Given the description of an element on the screen output the (x, y) to click on. 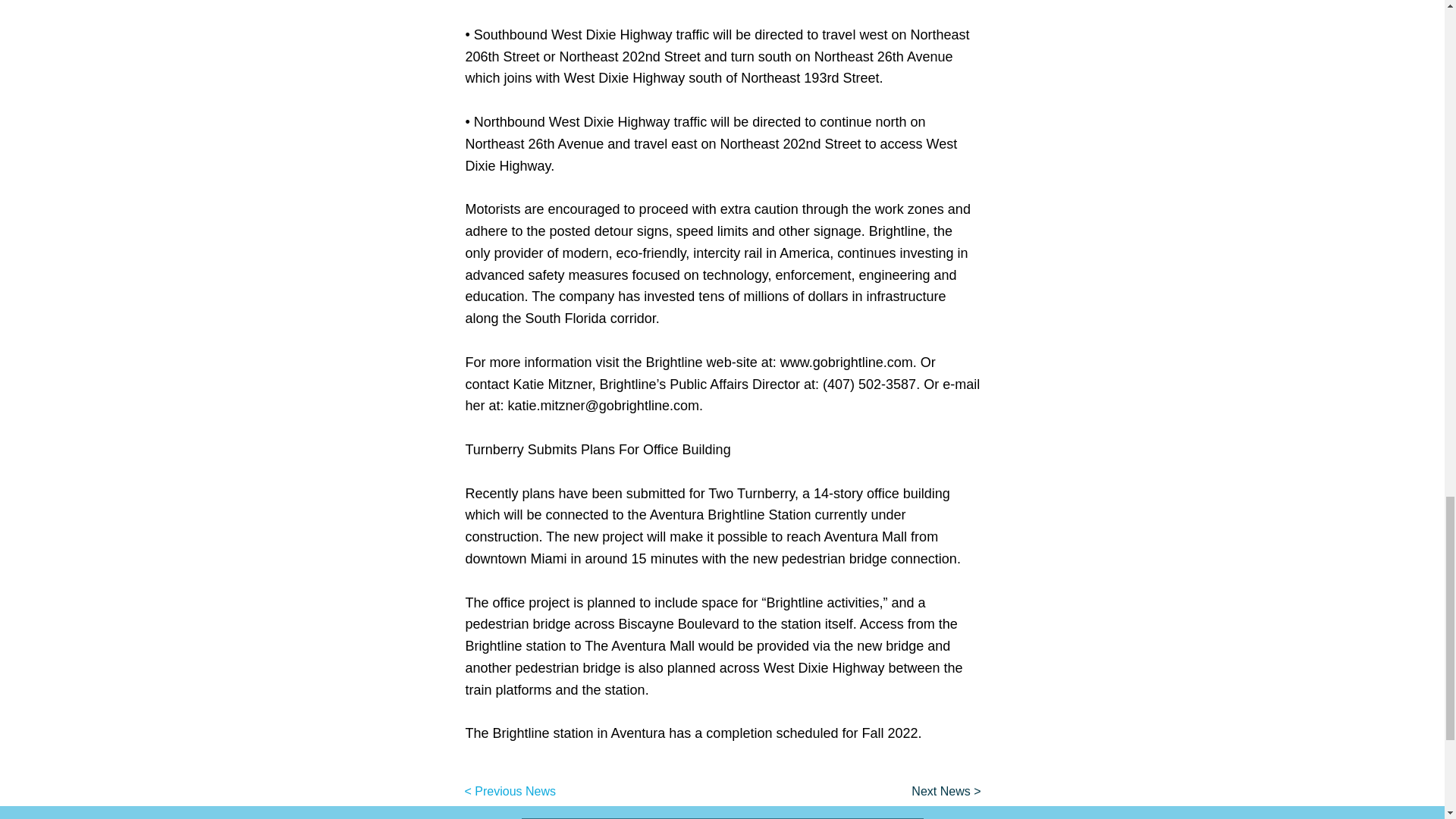
www.gobrightline.com (846, 362)
